Given the description of an element on the screen output the (x, y) to click on. 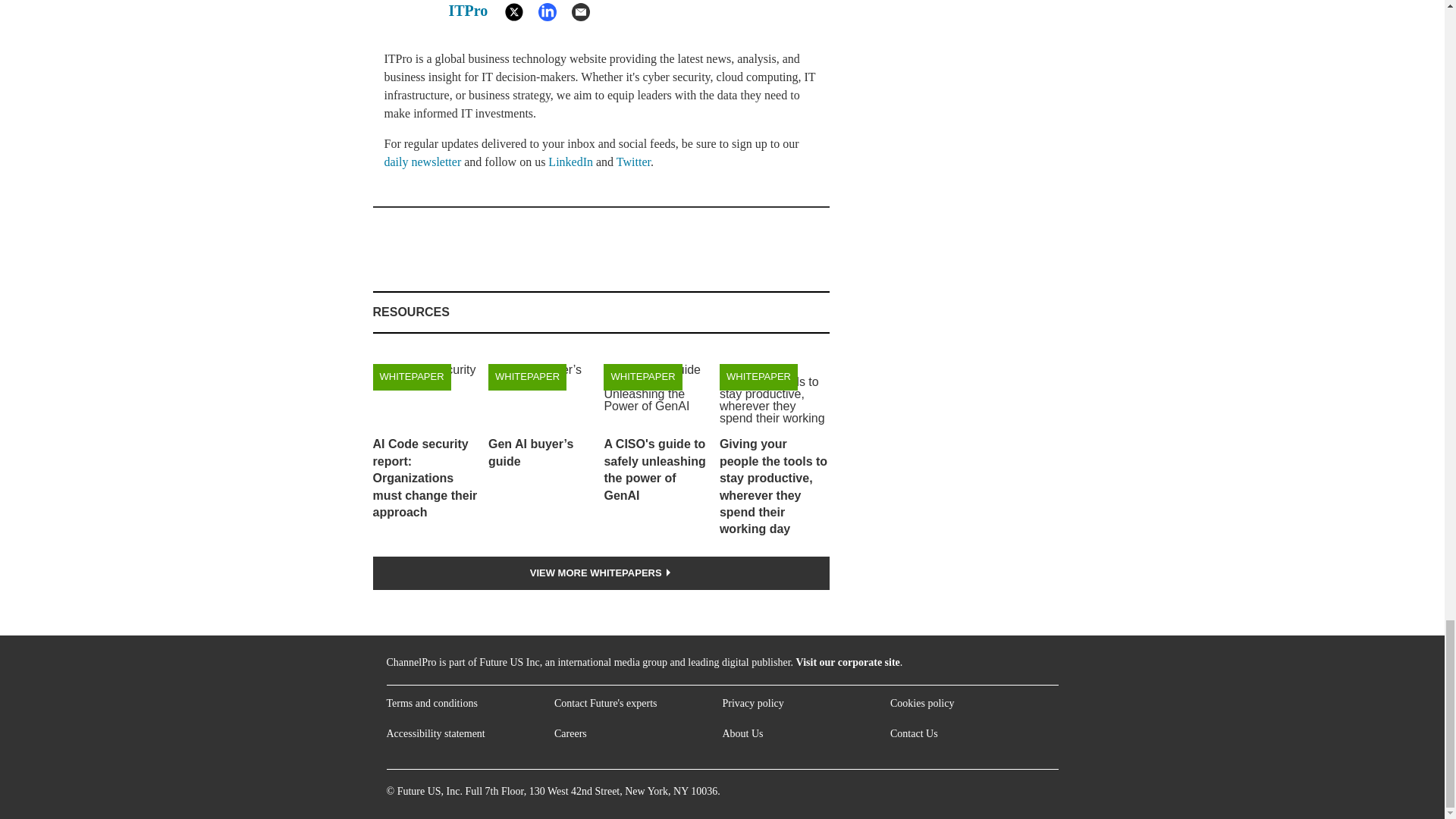
ITPro (467, 10)
daily newsletter (422, 161)
LinkedIn (570, 161)
